Given the description of an element on the screen output the (x, y) to click on. 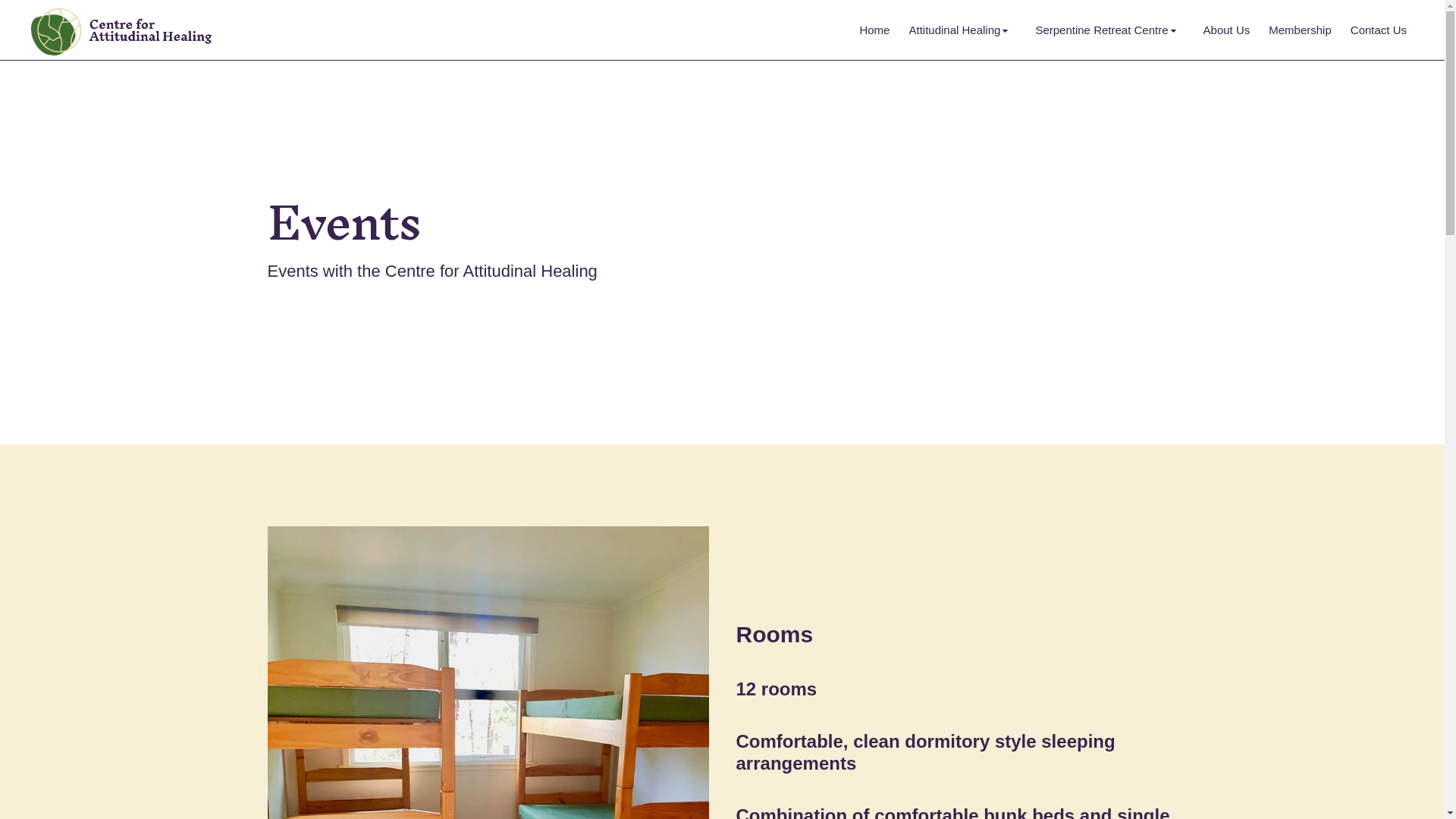
Membership Element type: text (1300, 29)
Home Element type: text (874, 29)
Contact Us Element type: text (1378, 29)
Attitudinal Healing Element type: text (961, 29)
About Us Element type: text (1226, 29)
Serpentine Retreat Centre Element type: text (1109, 29)
Skip to primary navigation Element type: text (0, 0)
